Given the description of an element on the screen output the (x, y) to click on. 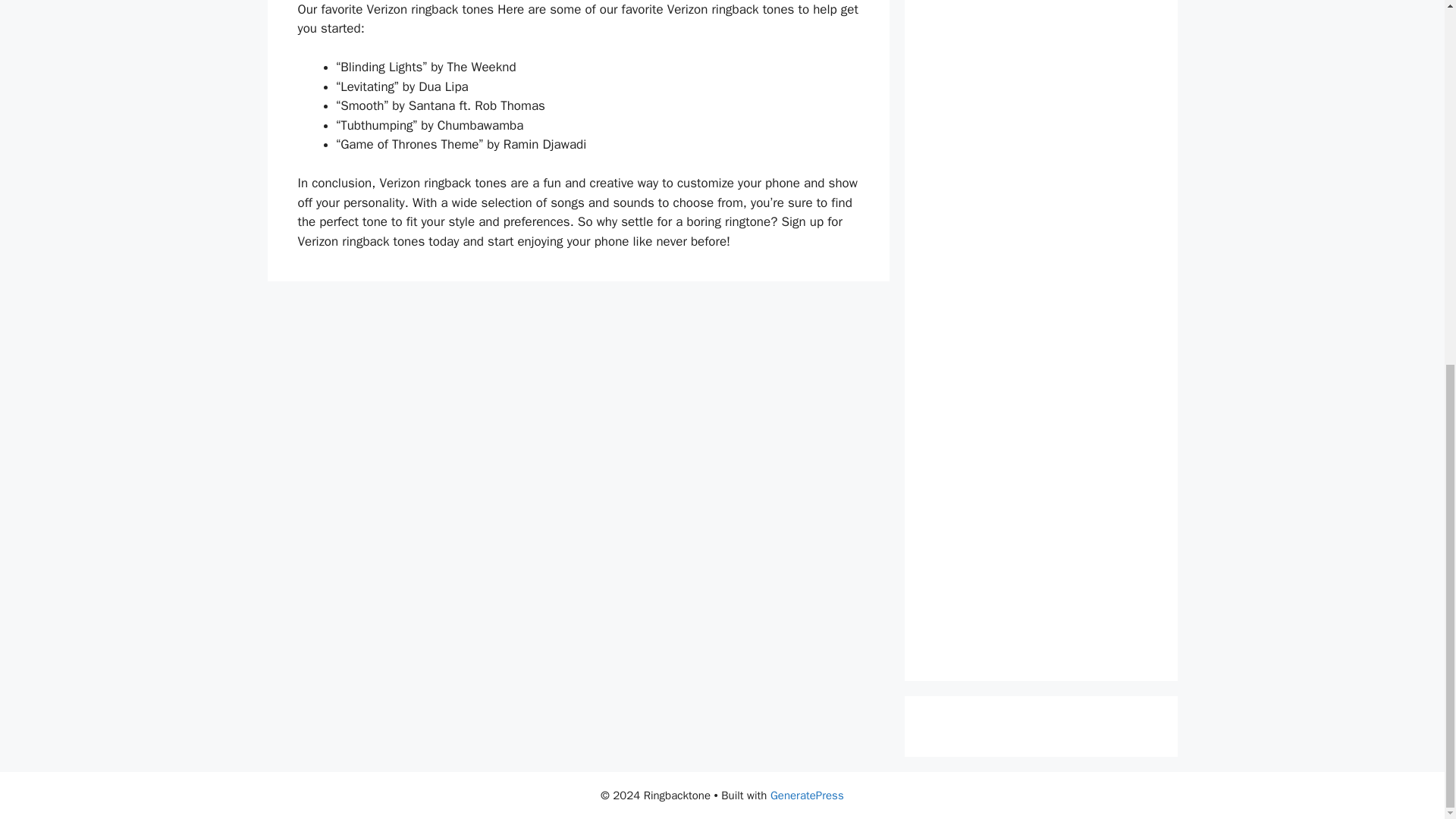
GeneratePress (807, 794)
